Given the description of an element on the screen output the (x, y) to click on. 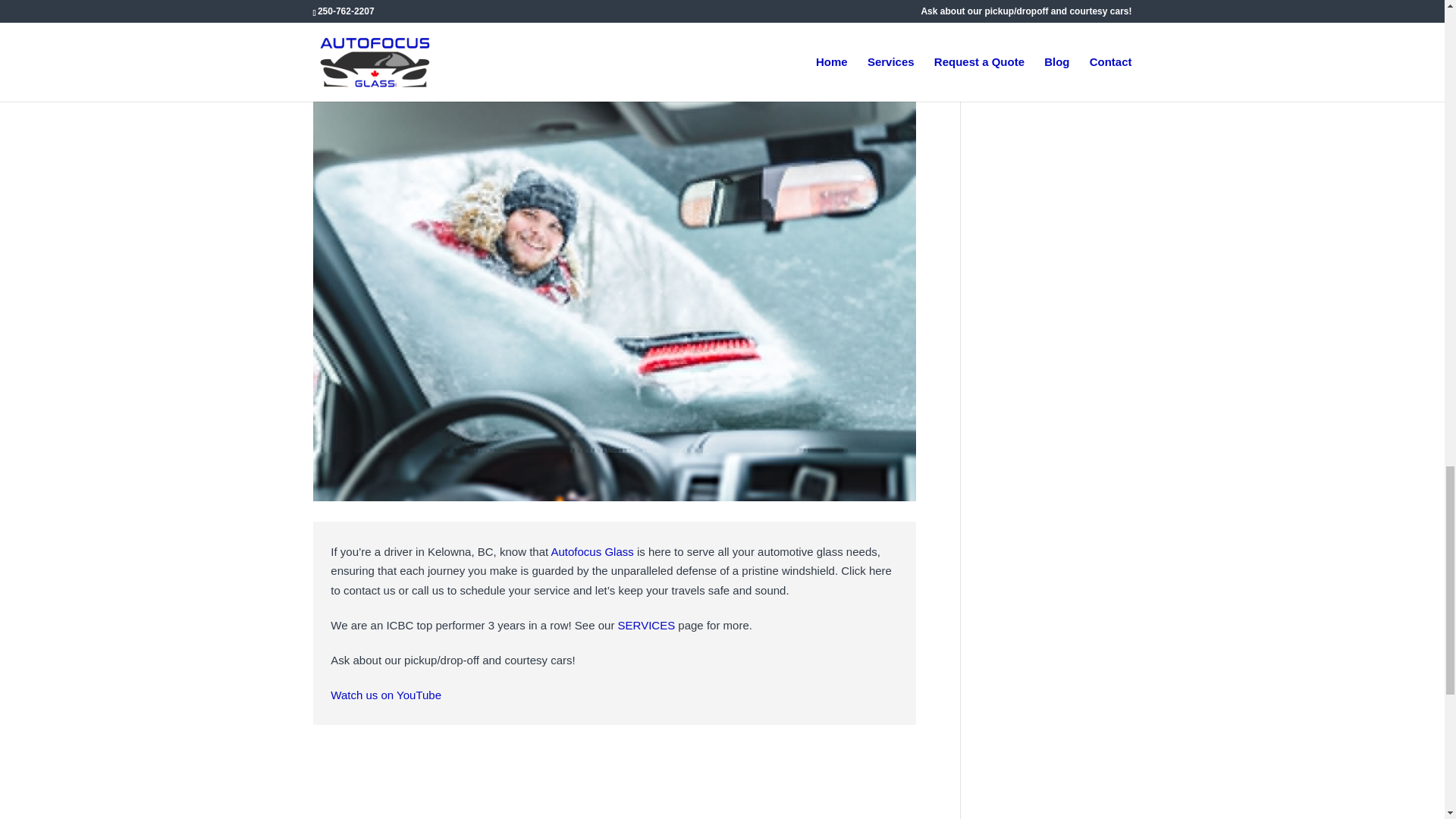
Autofocus Glass (591, 551)
SERVICES (646, 625)
Watch us on YouTube (385, 694)
